Given the description of an element on the screen output the (x, y) to click on. 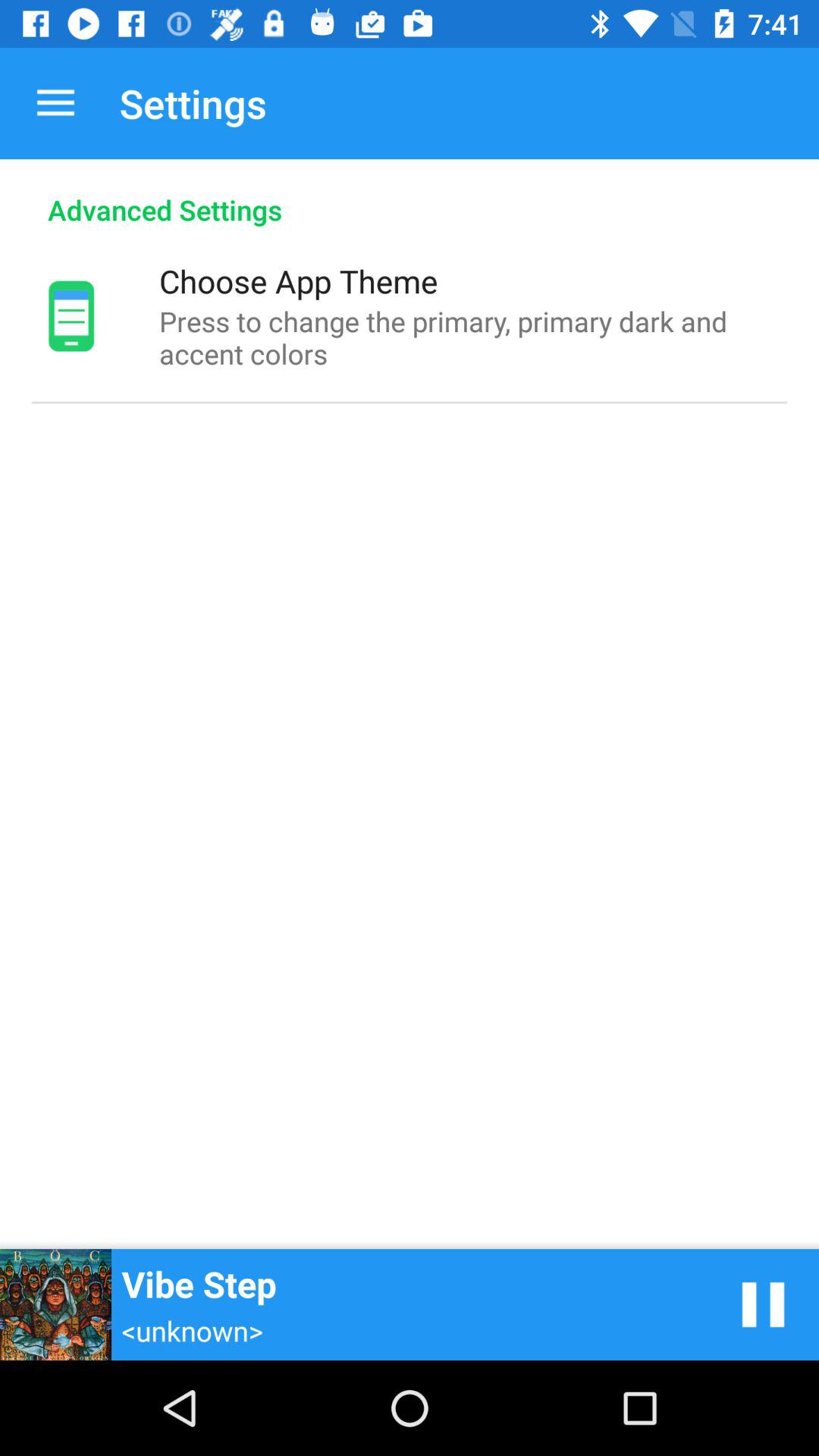
pause song (763, 1304)
